Given the description of an element on the screen output the (x, y) to click on. 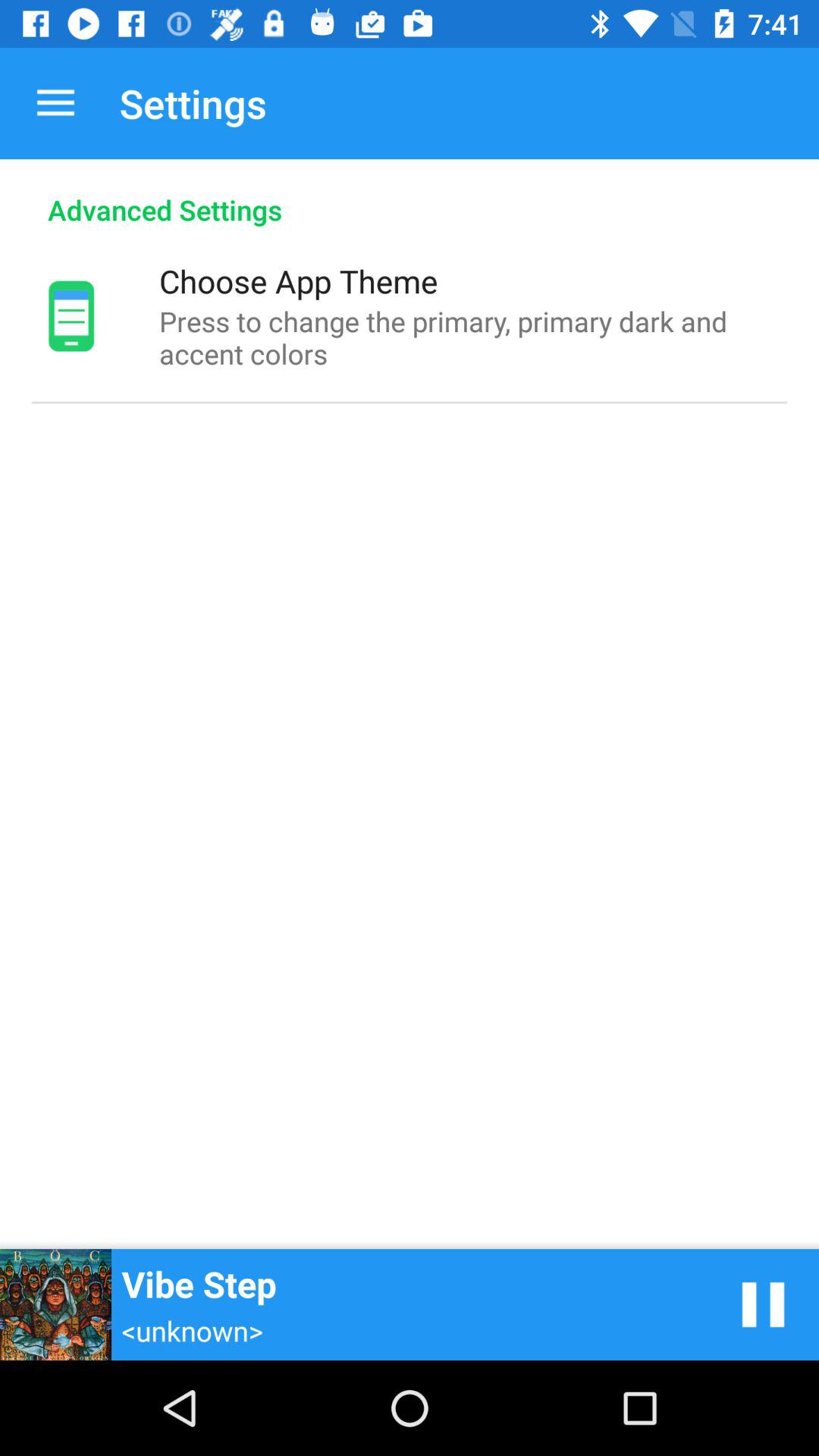
pause song (763, 1304)
